Given the description of an element on the screen output the (x, y) to click on. 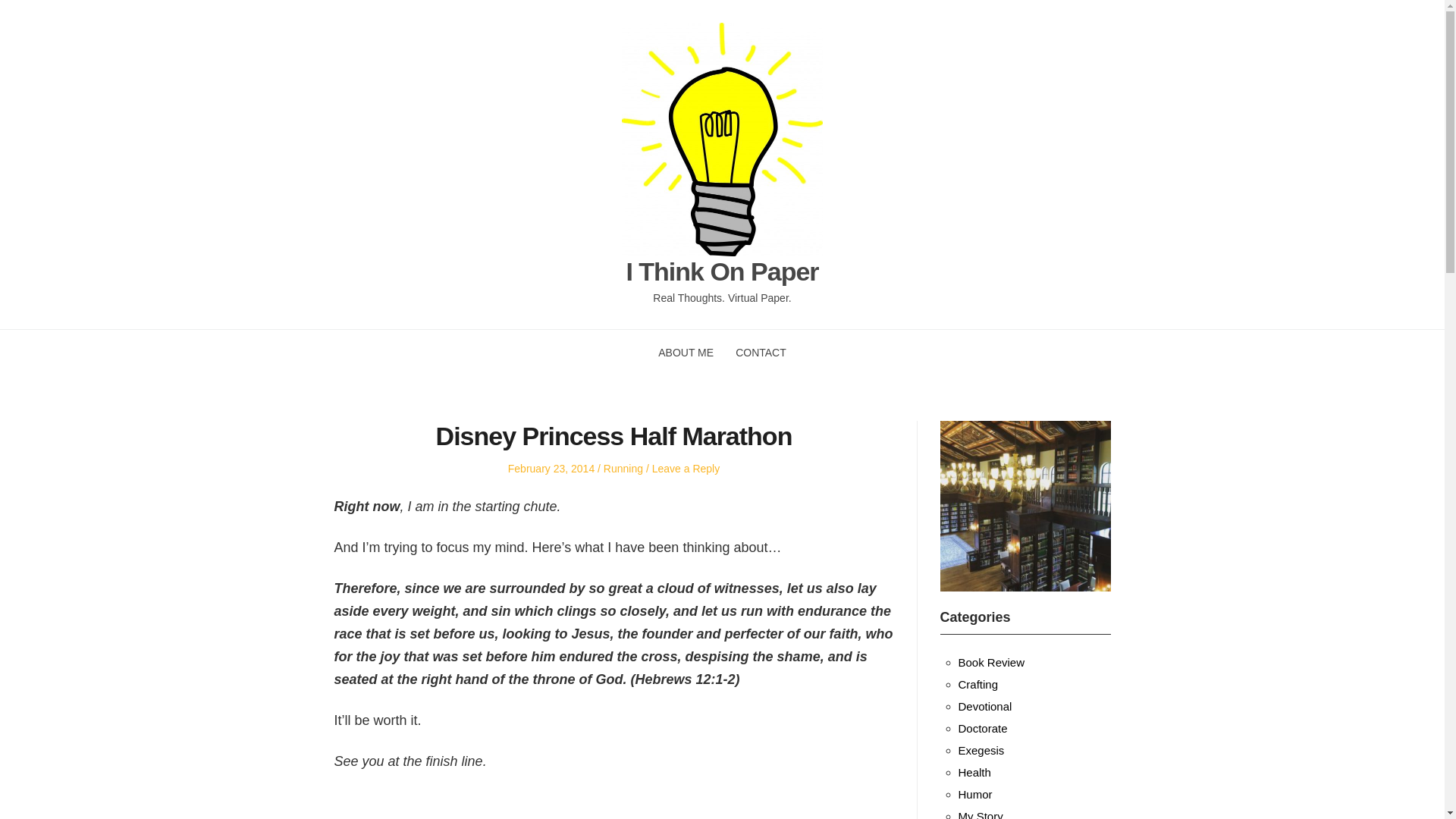
Doctorate (982, 727)
Exegesis (981, 749)
My Story (980, 814)
Running (623, 468)
Devotional (984, 706)
I Think On Paper (722, 271)
Humor (975, 793)
ABOUT ME (685, 352)
February 23, 2014 (551, 468)
Crafting (978, 684)
